Given the description of an element on the screen output the (x, y) to click on. 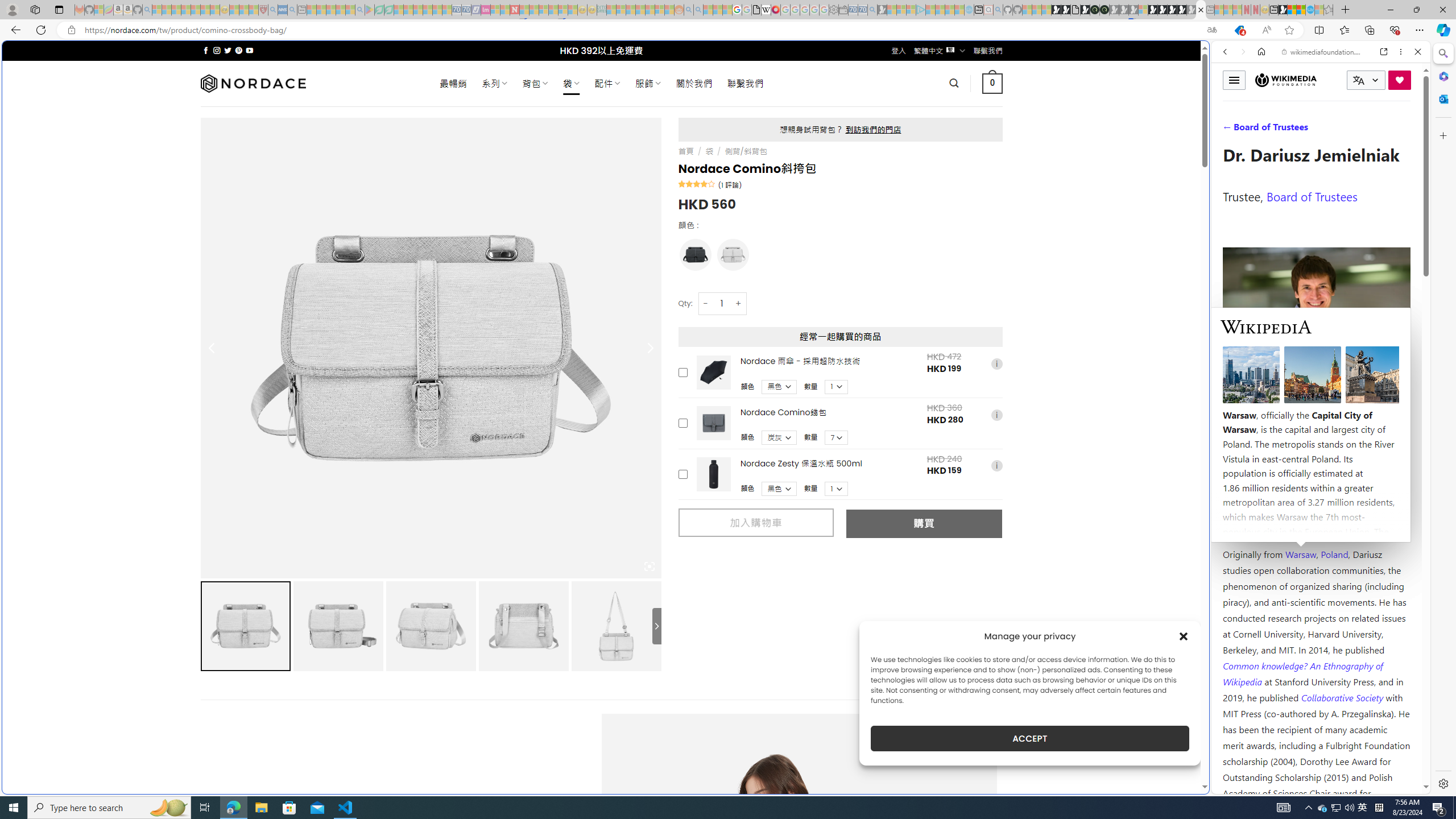
Collaborative Society  (1343, 697)
This site has coupons! Shopping in Microsoft Edge, 4 (1239, 29)
+ (738, 303)
Follow on Pinterest (237, 50)
